Given the description of an element on the screen output the (x, y) to click on. 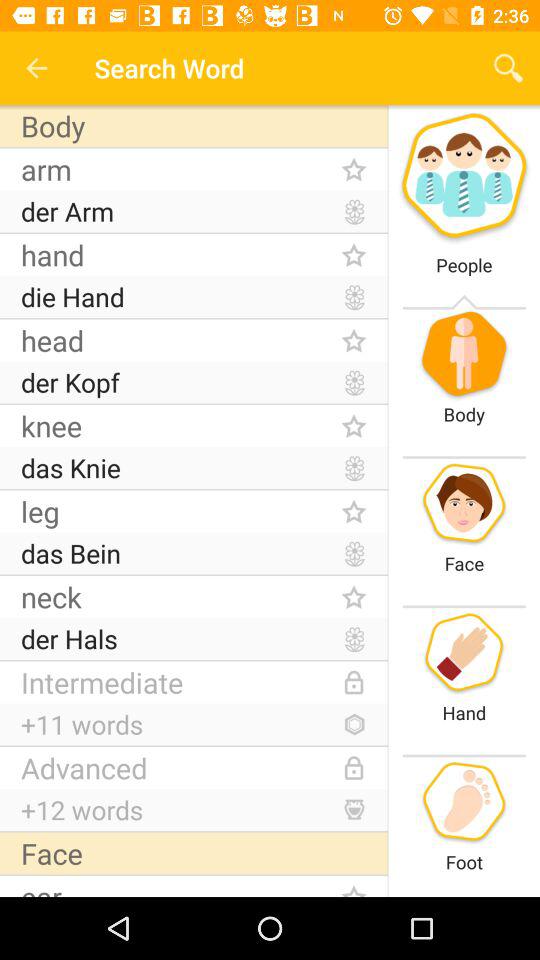
tap the icon next to the search word (36, 68)
